Given the description of an element on the screen output the (x, y) to click on. 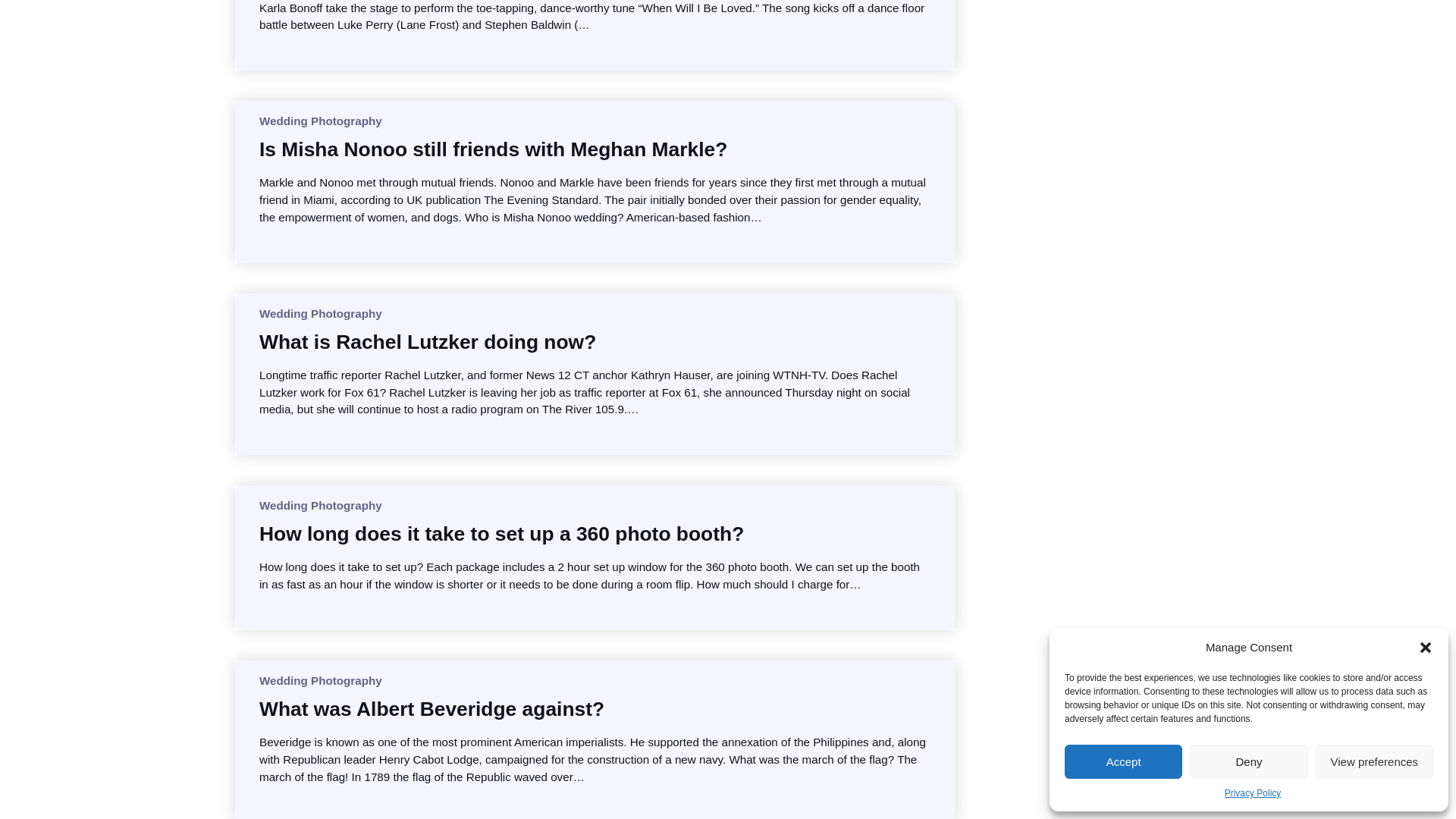
Wedding Photography (320, 680)
What was Albert Beveridge against? (431, 708)
How long does it take to set up a 360 photo booth? (501, 533)
Wedding Photography (320, 120)
Wedding Photography (320, 313)
Is Misha Nonoo still friends with Meghan Markle? (492, 149)
Wedding Photography (320, 504)
What is Rachel Lutzker doing now? (427, 341)
